Given the description of an element on the screen output the (x, y) to click on. 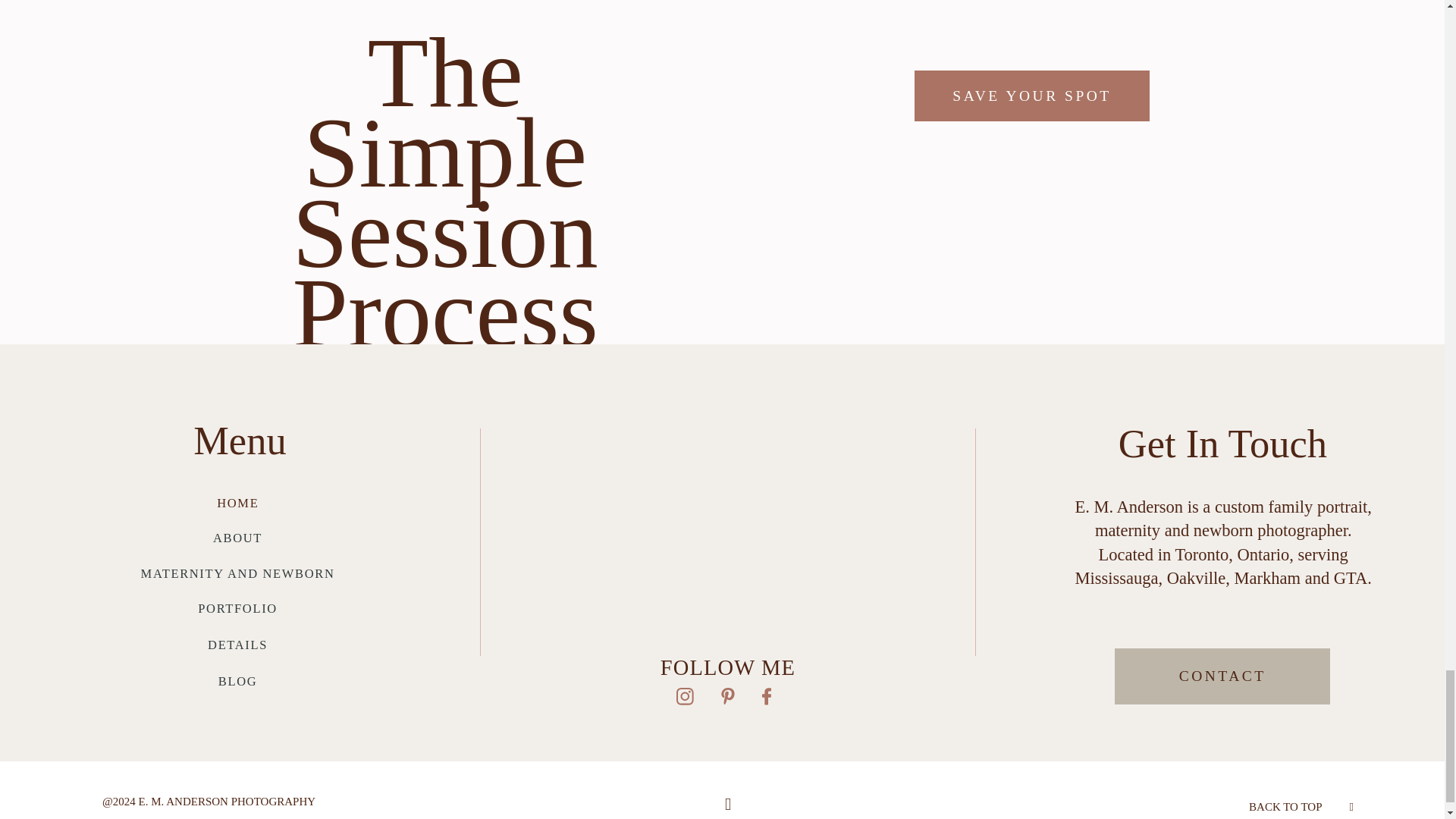
PORTFOLIO (238, 608)
ABOUT (237, 537)
Oakville, (1200, 578)
SAVE YOUR SPOT (1032, 95)
MATERNITY AND NEWBORN (237, 573)
BACK TO TOP (1301, 804)
BLOG (237, 681)
Markham (1267, 578)
DETAILS (237, 644)
BACK TO TOP (1285, 807)
HOME (237, 503)
CONTACT (1222, 676)
Mississauga (1116, 578)
